Given the description of an element on the screen output the (x, y) to click on. 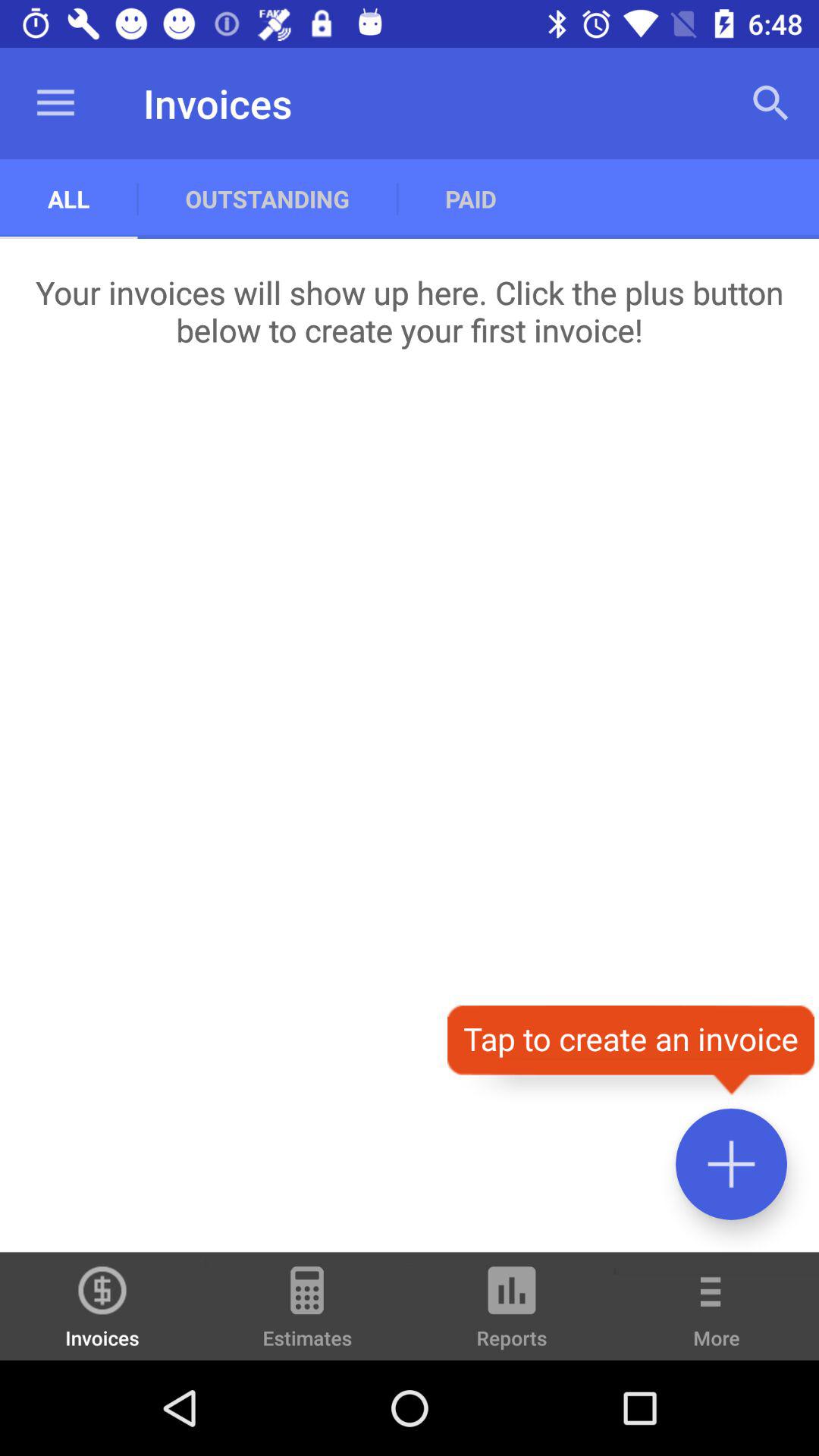
click the all item (68, 198)
